Given the description of an element on the screen output the (x, y) to click on. 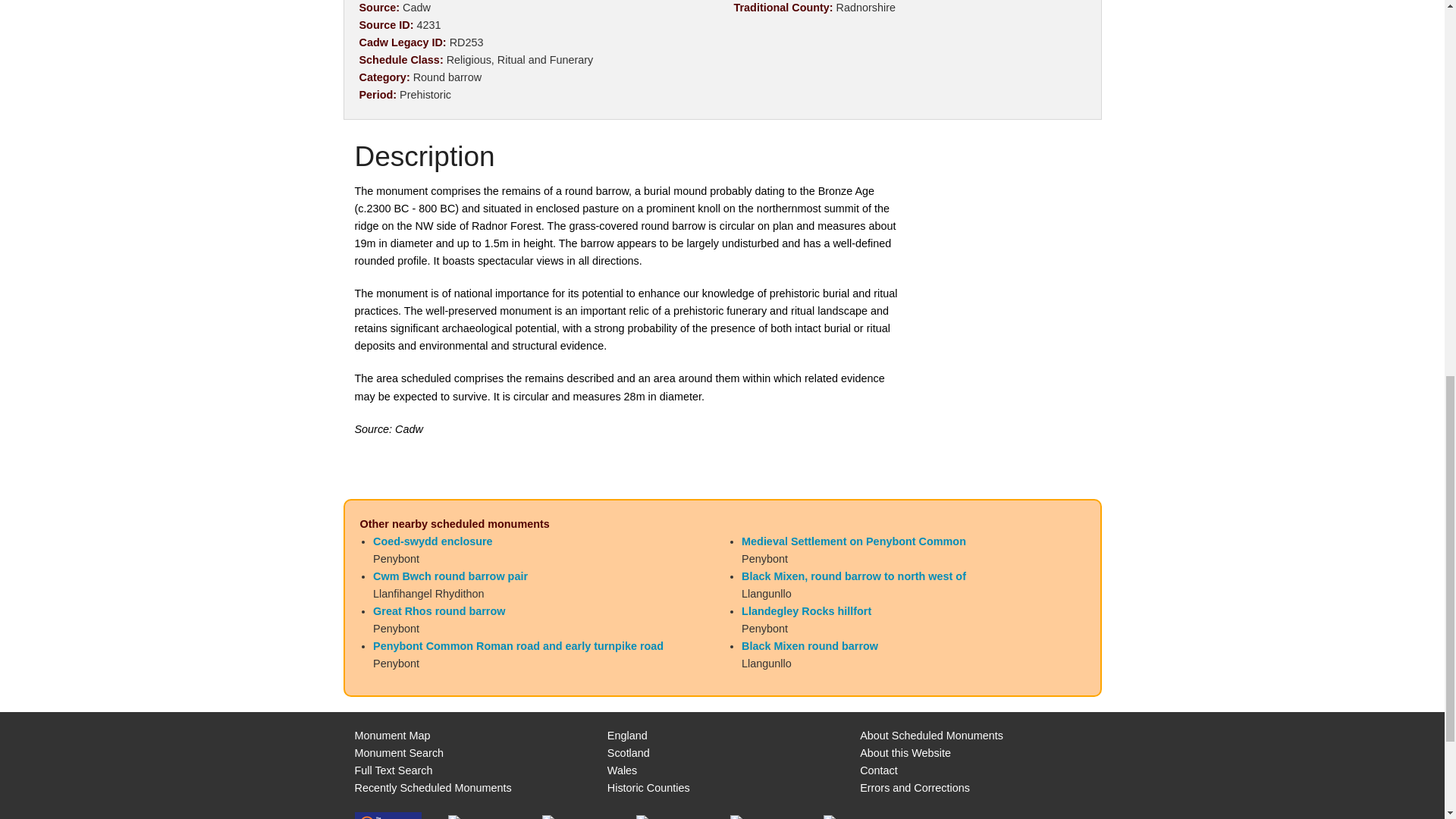
Great Rhos round barrow (438, 611)
Cwm Bwch round barrow pair (449, 576)
Medieval Settlement on Penybont Common (853, 541)
Penybont Common Roman road and early turnpike road (517, 645)
Coed-swydd enclosure (432, 541)
